Given the description of an element on the screen output the (x, y) to click on. 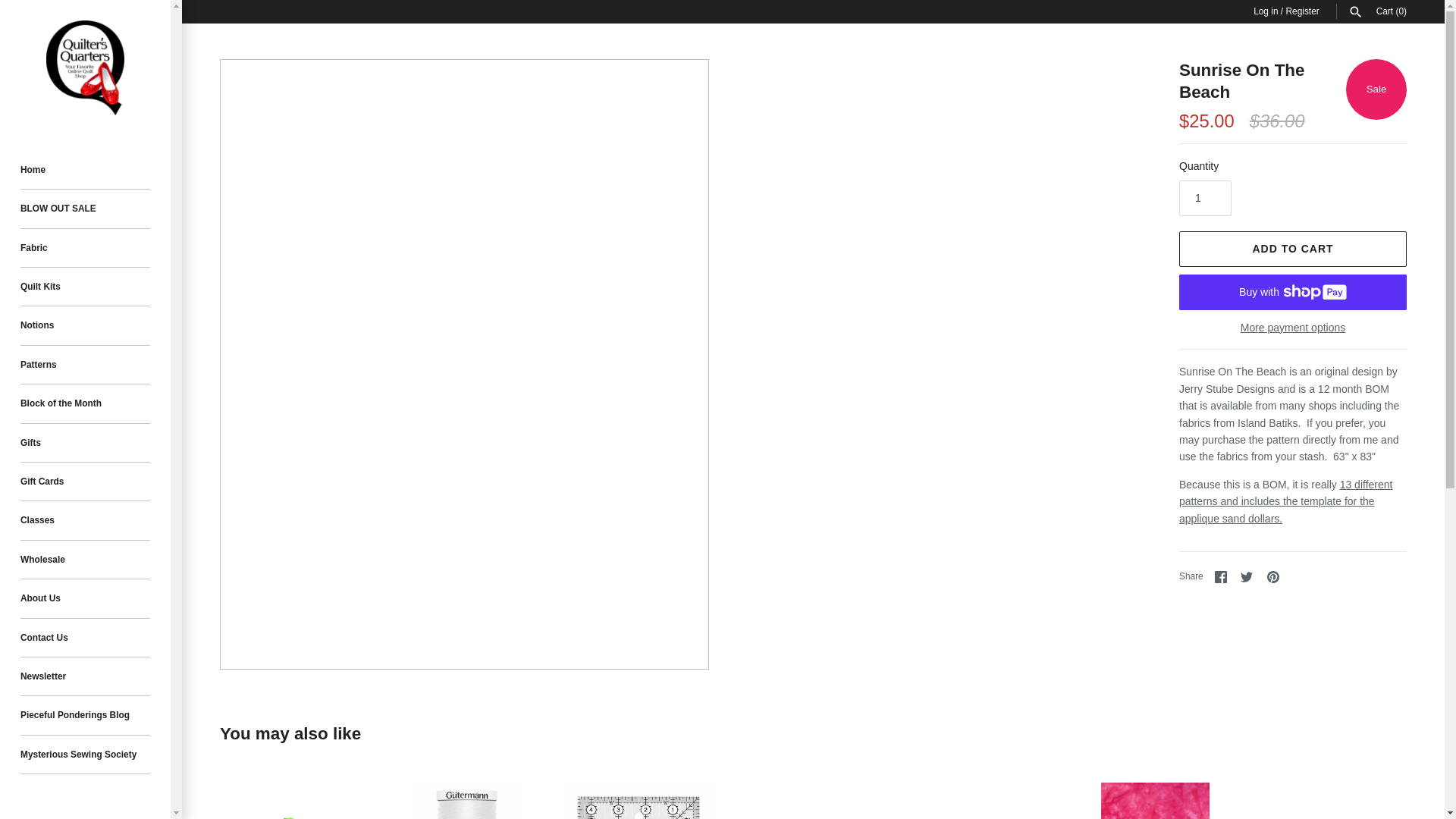
Register (1302, 10)
Classes (84, 520)
Cutter Pillar Glow (294, 800)
Block of the Month (84, 403)
Gift Cards (84, 481)
1 (1205, 198)
Home (84, 169)
Log in (1265, 10)
Contact Us (84, 638)
Patterns (84, 364)
